Given the description of an element on the screen output the (x, y) to click on. 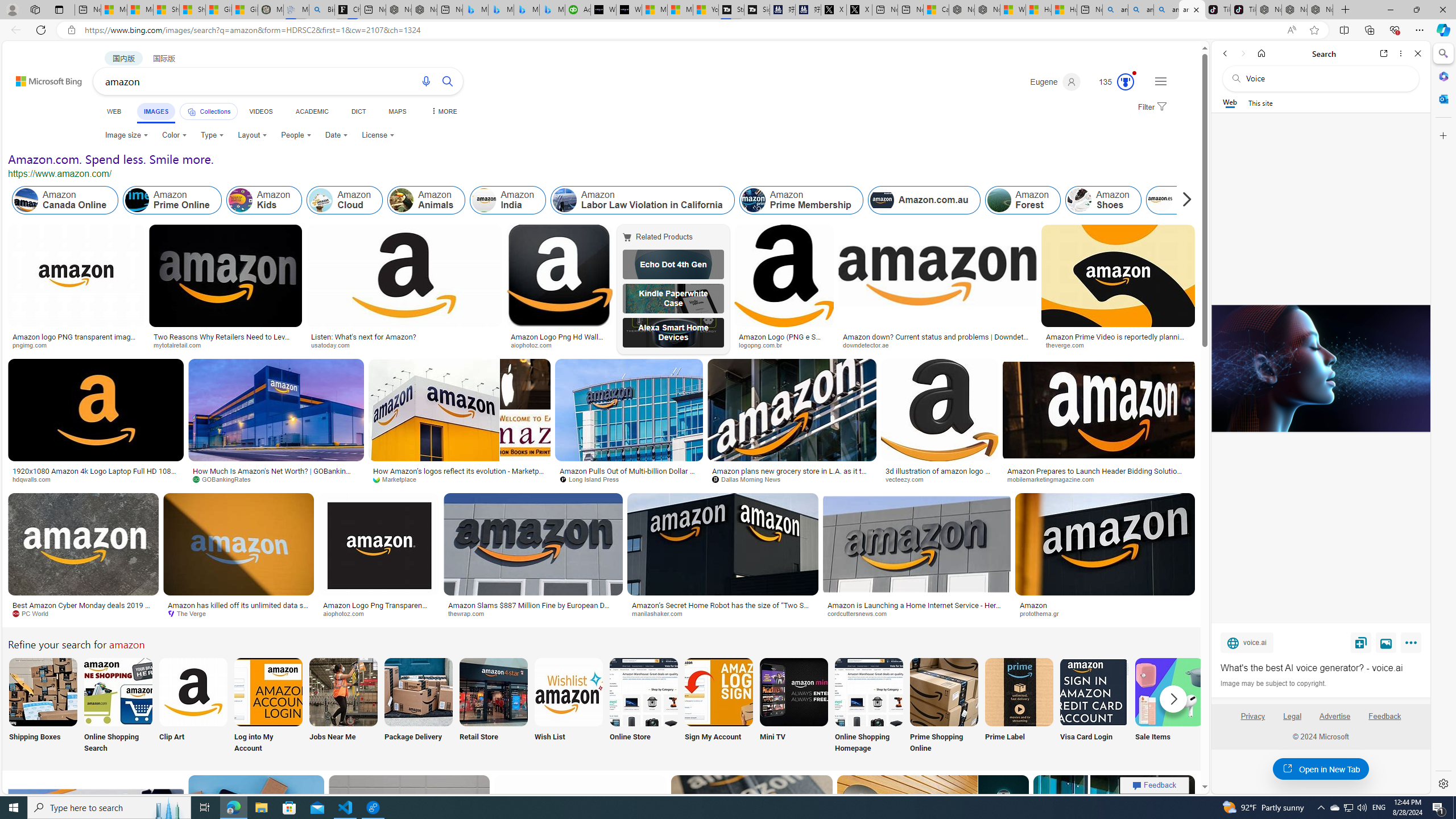
aiophotoz.com (347, 612)
DICT (357, 111)
Jobs Near Me (342, 706)
Search using voice (426, 80)
Amazon Kids (239, 200)
Amazon Canada Online (25, 200)
Amazon Wish List (568, 691)
Microsoft 365 (1442, 76)
